Given the description of an element on the screen output the (x, y) to click on. 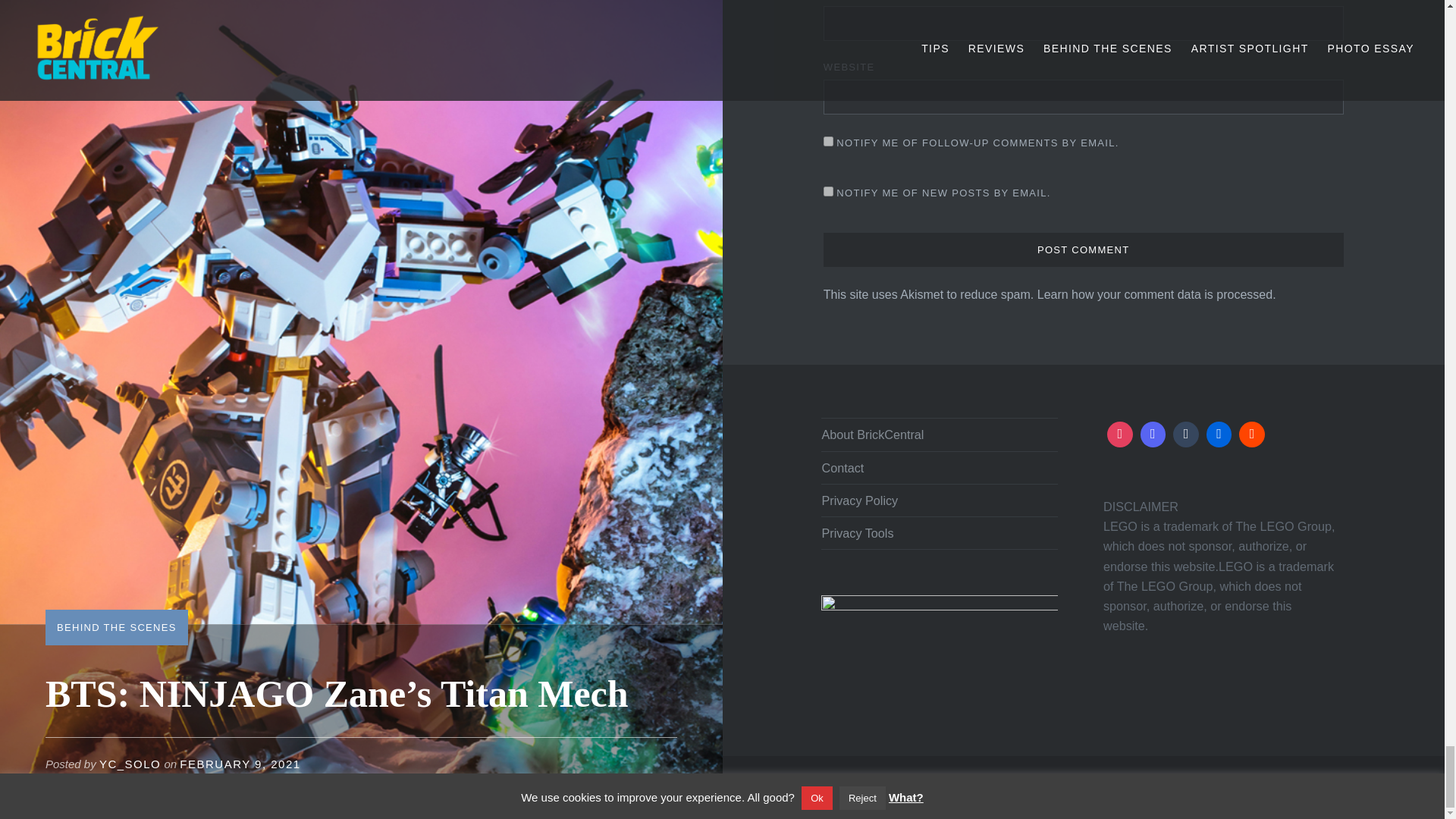
subscribe (828, 191)
Post Comment (1083, 249)
Reddit (1251, 434)
Contact (939, 467)
Post Comment (1083, 249)
Discord2 (1153, 434)
Instagram (1120, 434)
Proudly powered by WordPress (999, 787)
subscribe (828, 141)
Learn how your comment data is processed (1154, 294)
Flickr (1219, 434)
Privacy Tools (939, 532)
About BrickCentral (939, 434)
Privacy Policy (939, 500)
Tumblr (1185, 434)
